Given the description of an element on the screen output the (x, y) to click on. 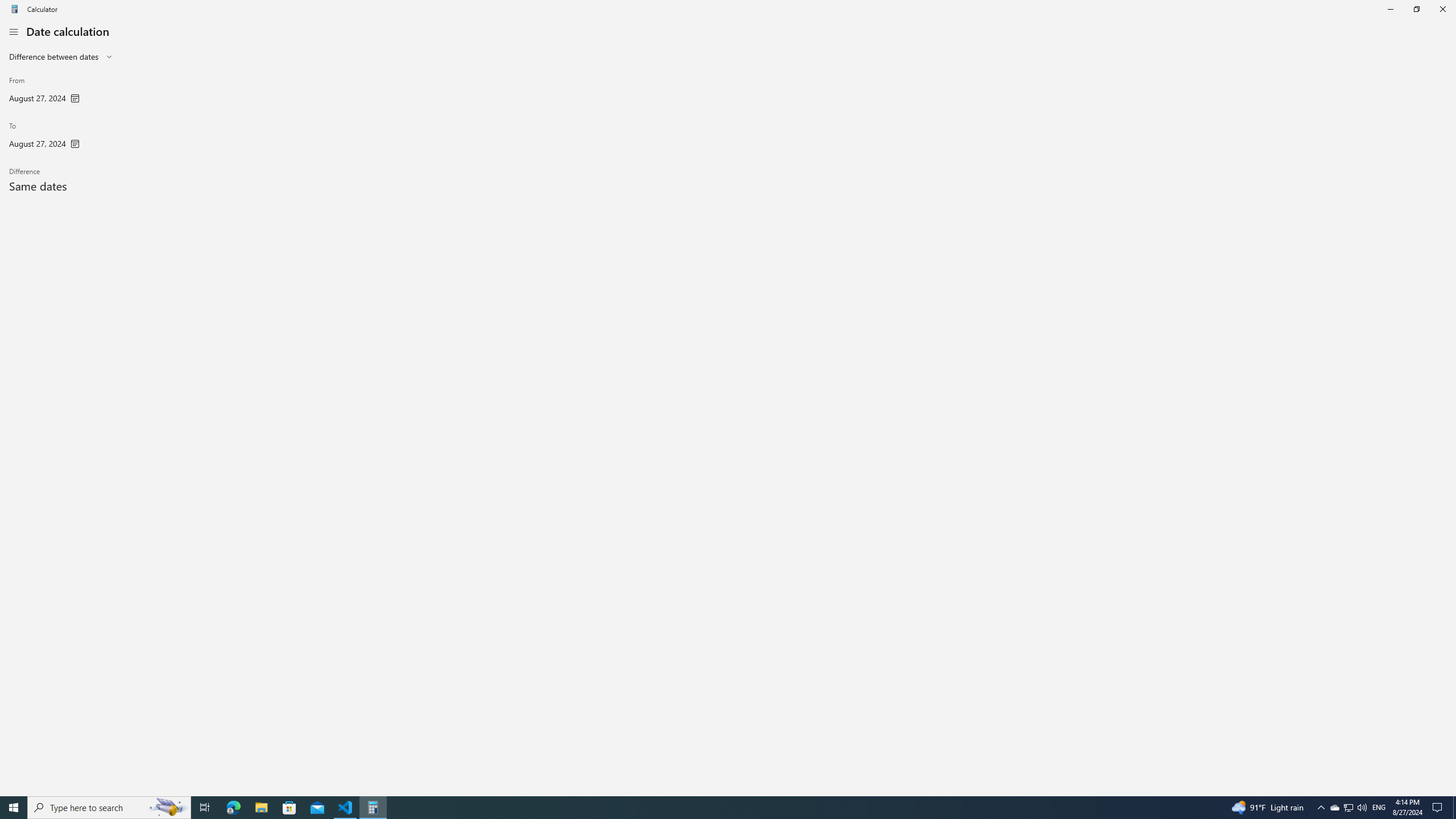
Difference between dates (53, 56)
From (43, 91)
Calculation mode (61, 56)
Close Calculator (1442, 9)
Restore Calculator (1416, 9)
